Given the description of an element on the screen output the (x, y) to click on. 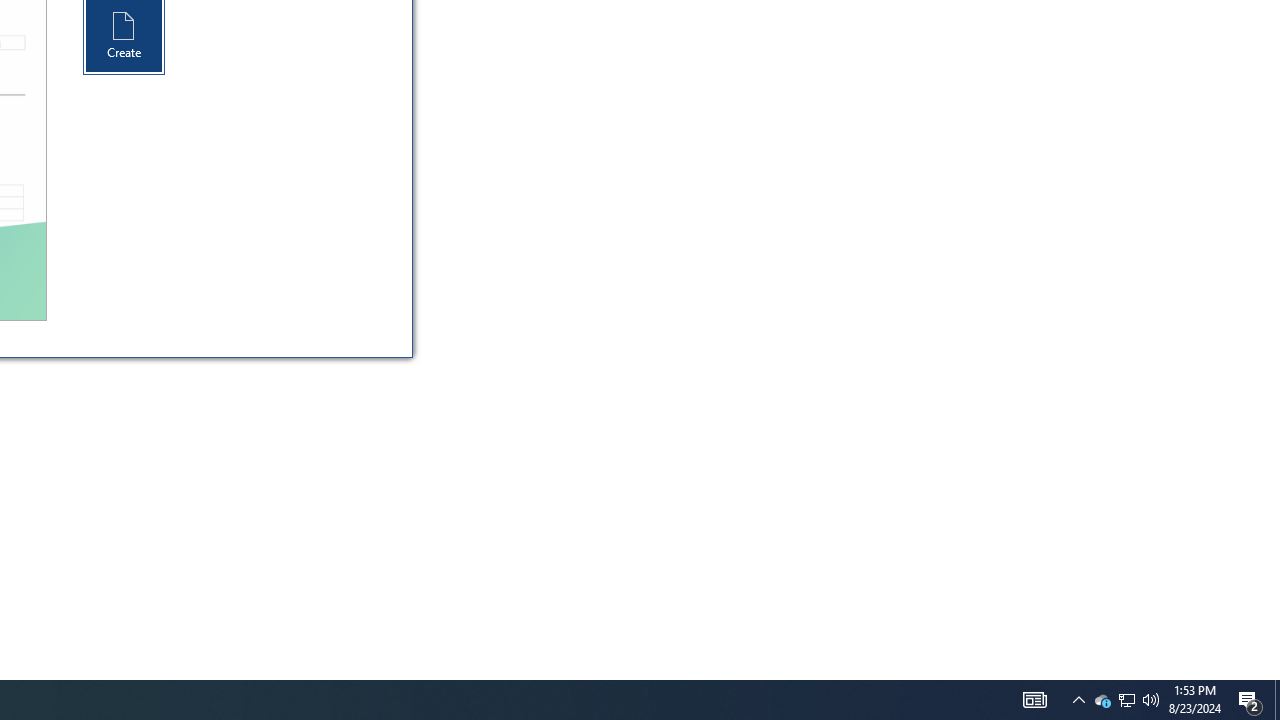
Q2790: 100% (1102, 699)
AutomationID: 4105 (1151, 699)
Action Center, 2 new notifications (1034, 699)
Notification Chevron (1250, 699)
User Promoted Notification Area (1078, 699)
Show desktop (1126, 699)
